Given the description of an element on the screen output the (x, y) to click on. 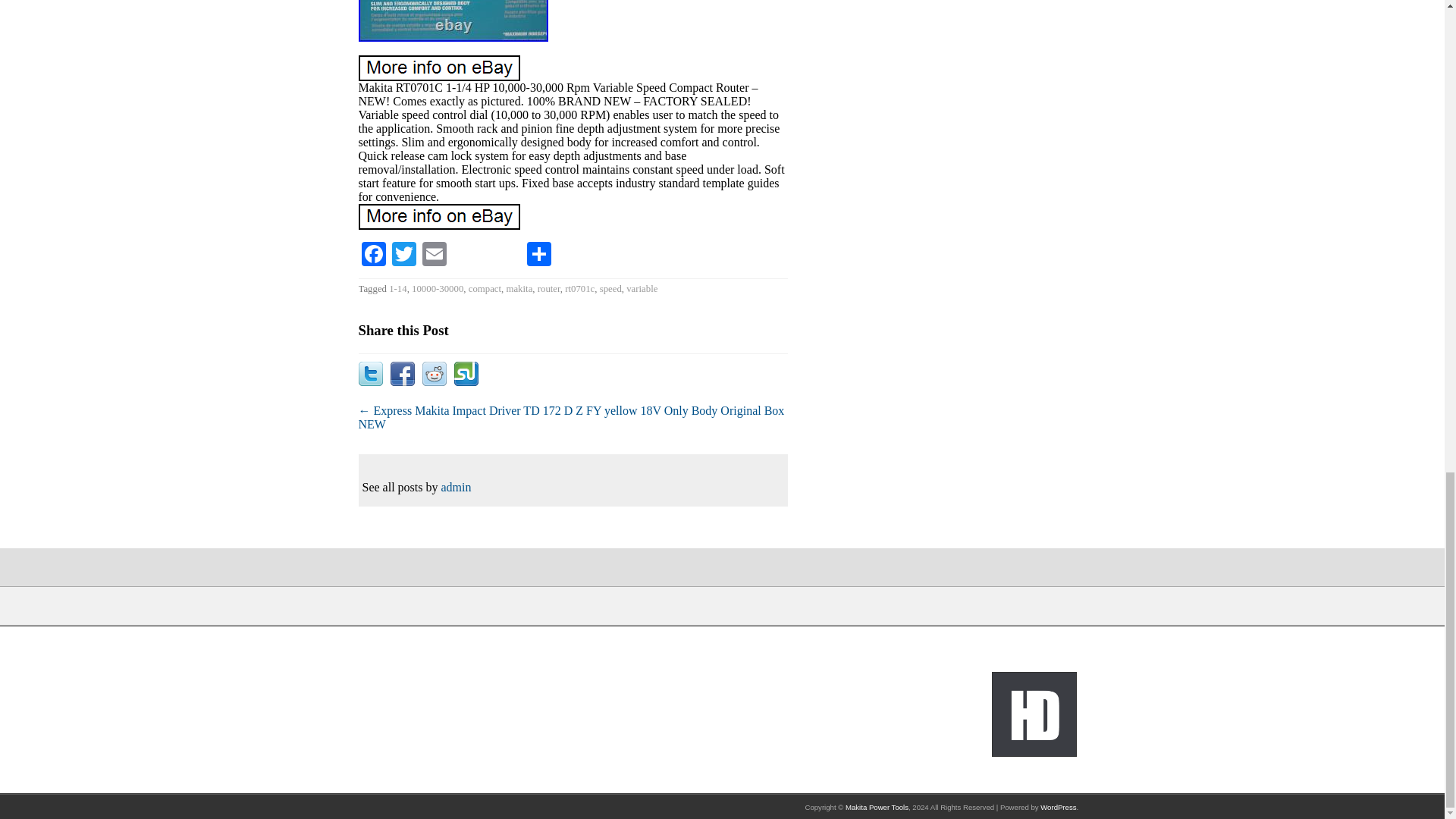
Facebook (373, 253)
Twitter (403, 253)
compact (484, 288)
Facebook (373, 253)
makita (518, 288)
10000-30000 (437, 288)
router (548, 288)
Email (433, 253)
variable (642, 288)
Email (433, 253)
rt0701c (579, 288)
Twitter (403, 253)
speed (610, 288)
1-14 (397, 288)
